Given the description of an element on the screen output the (x, y) to click on. 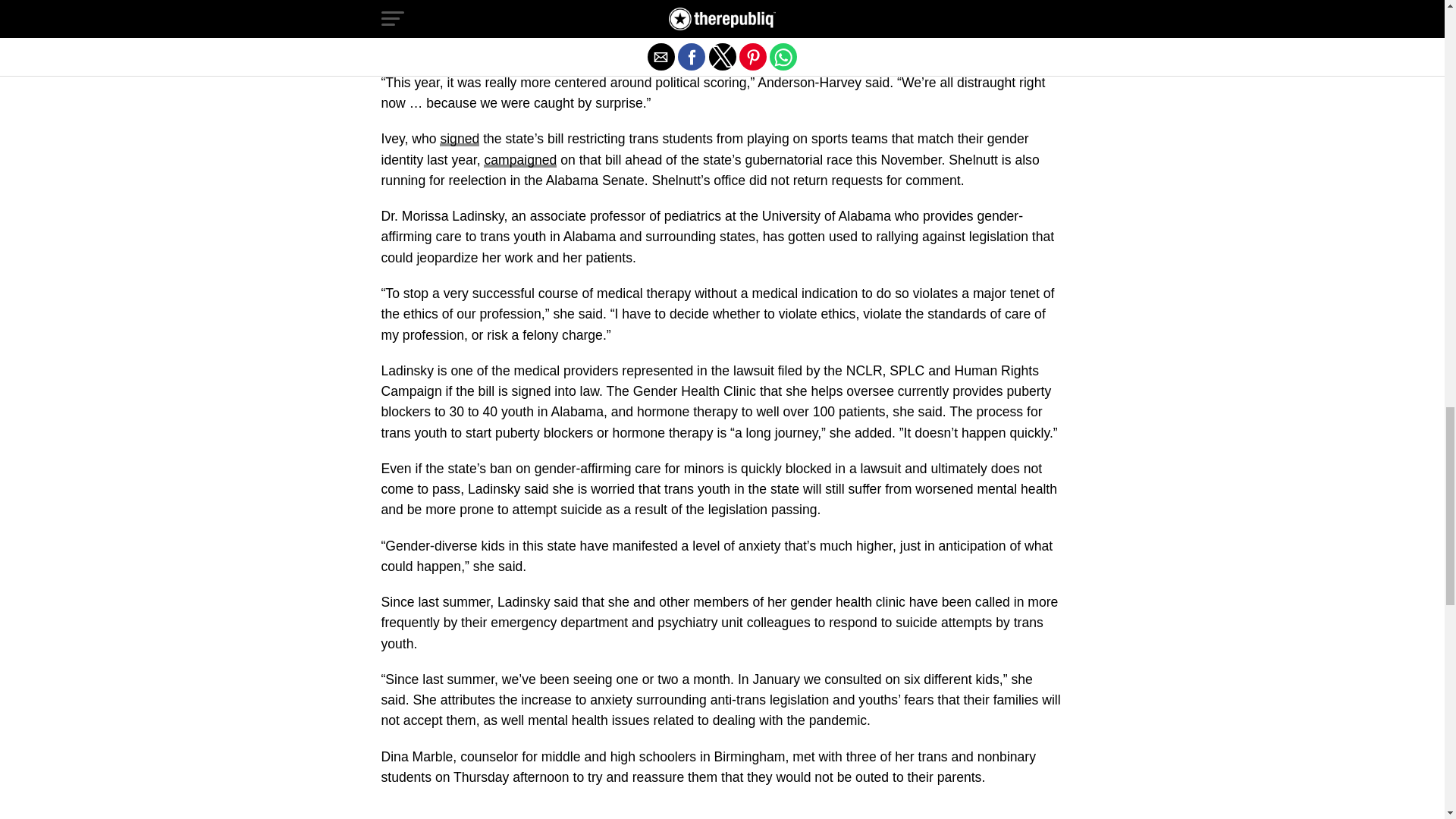
signed (459, 138)
campaigned (519, 159)
